Given the description of an element on the screen output the (x, y) to click on. 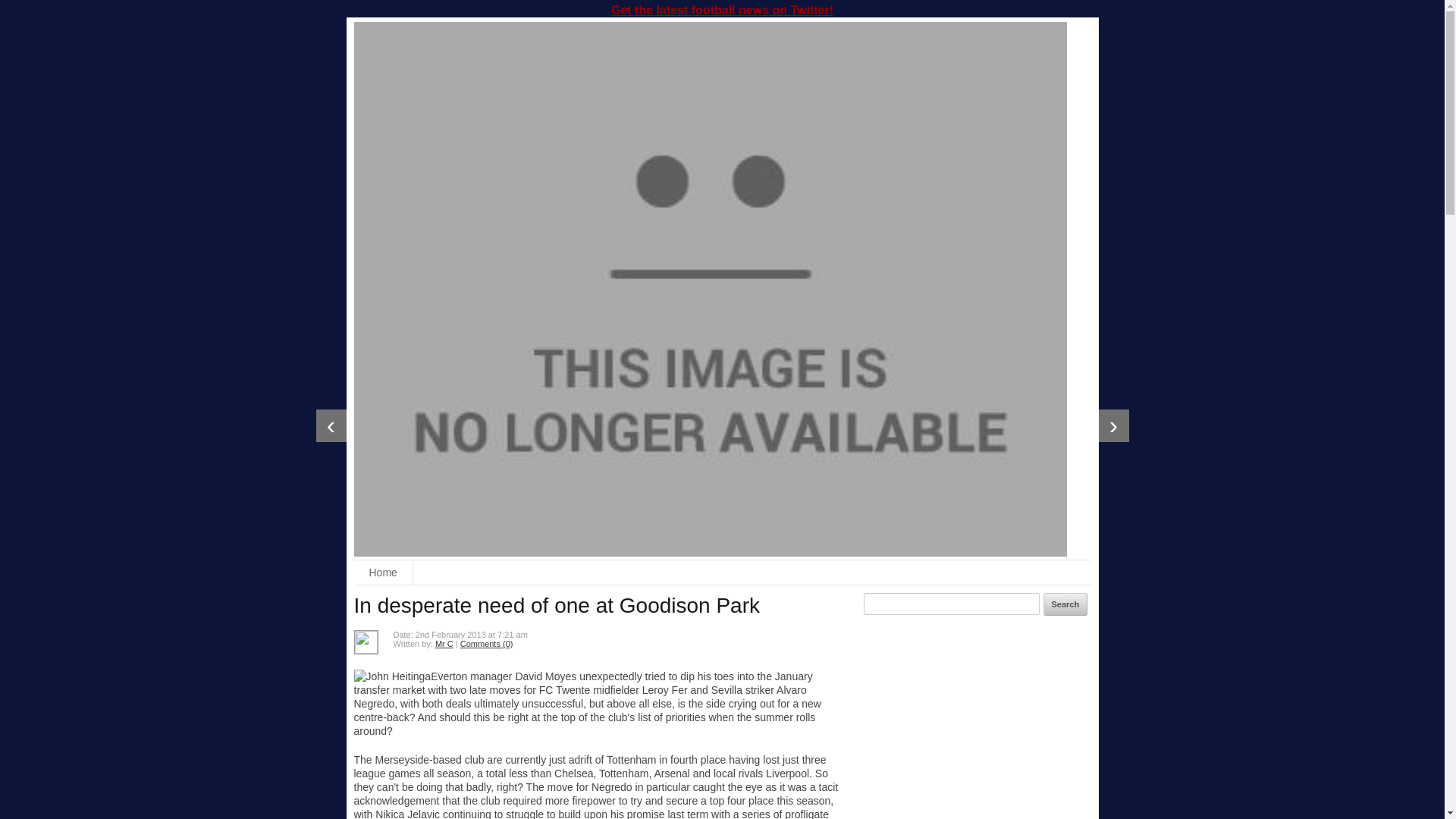
Next: Does Moyes link suggest the well has run dry? (1112, 425)
Search (1065, 603)
Mr C (443, 643)
Posts by Mr C (443, 643)
Home (382, 572)
Get the latest football news on Twitter! (721, 10)
Search (1065, 603)
